Given the description of an element on the screen output the (x, y) to click on. 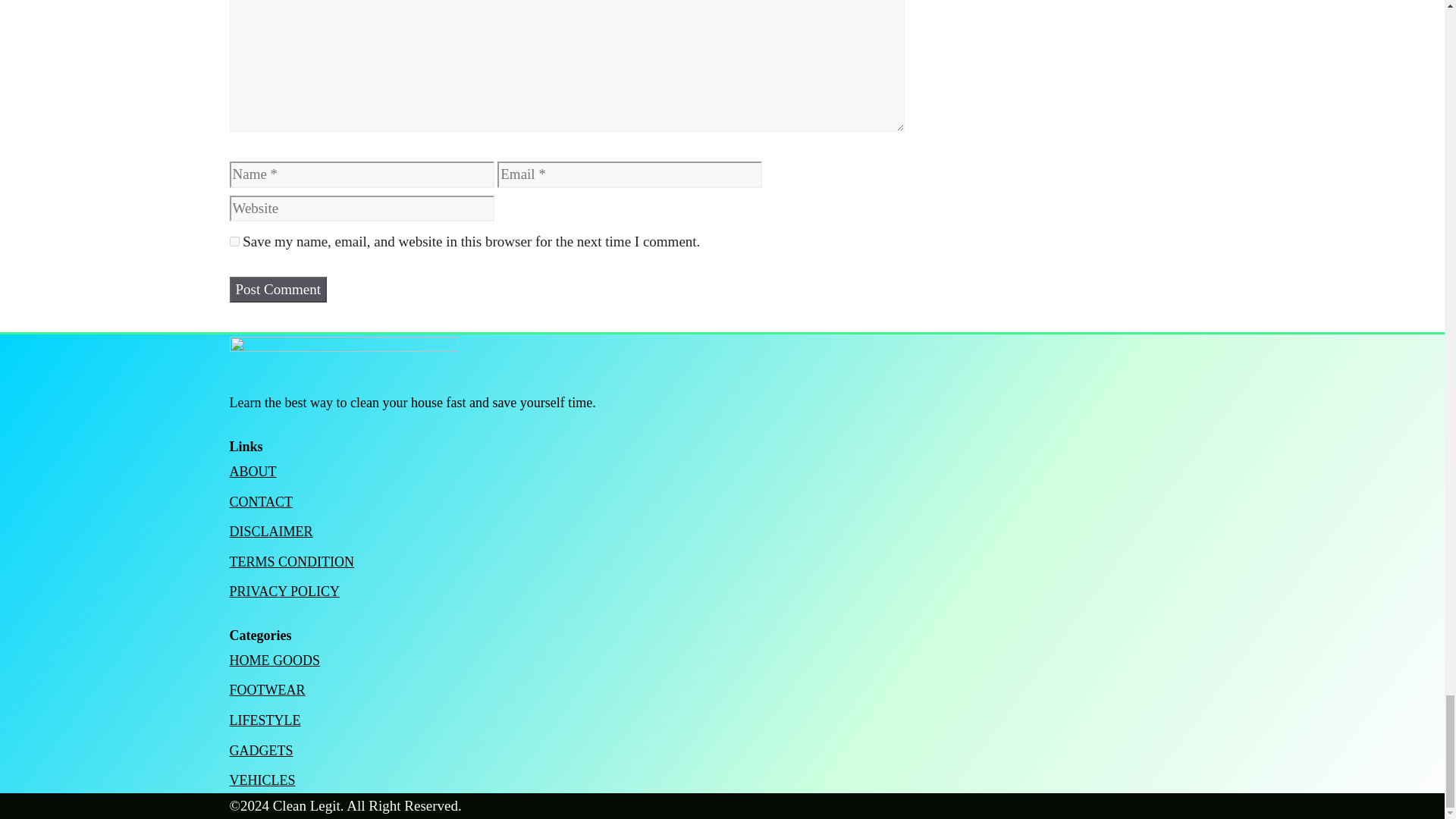
yes (233, 241)
Post Comment (277, 289)
Post Comment (277, 289)
